Given the description of an element on the screen output the (x, y) to click on. 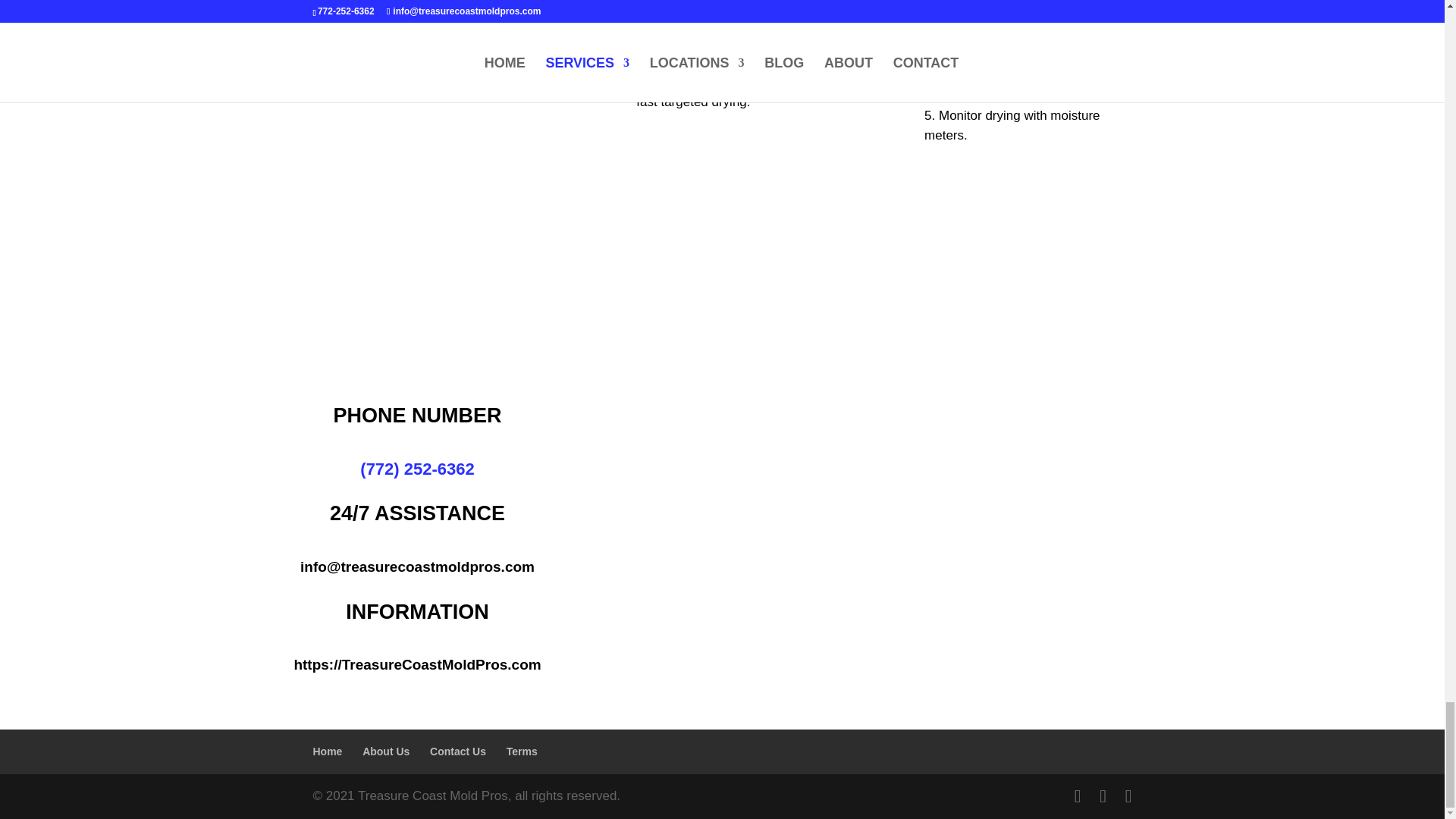
Home (327, 751)
About Us (385, 751)
Contact Us (457, 751)
